Given the description of an element on the screen output the (x, y) to click on. 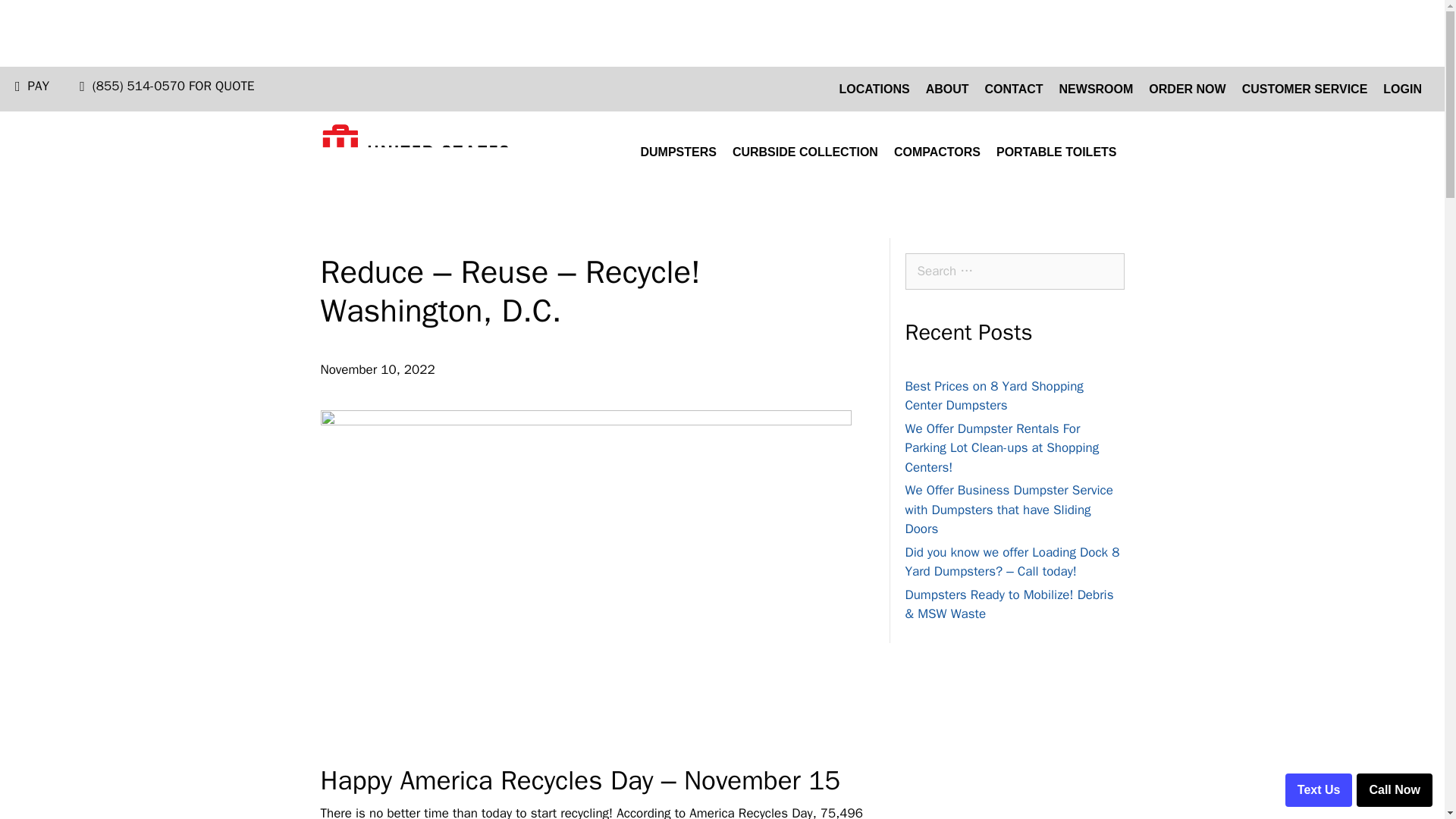
CONTACT (1013, 89)
LOGIN (1402, 89)
PORTABLE TOILETS (1056, 152)
PAY (38, 86)
LOCATIONS (874, 89)
America Recycles Day (525, 779)
USDS-logo-horizontal (414, 151)
ABOUT (947, 89)
Best Prices on 8 Yard Shopping Center Dumpsters (994, 396)
